Given the description of an element on the screen output the (x, y) to click on. 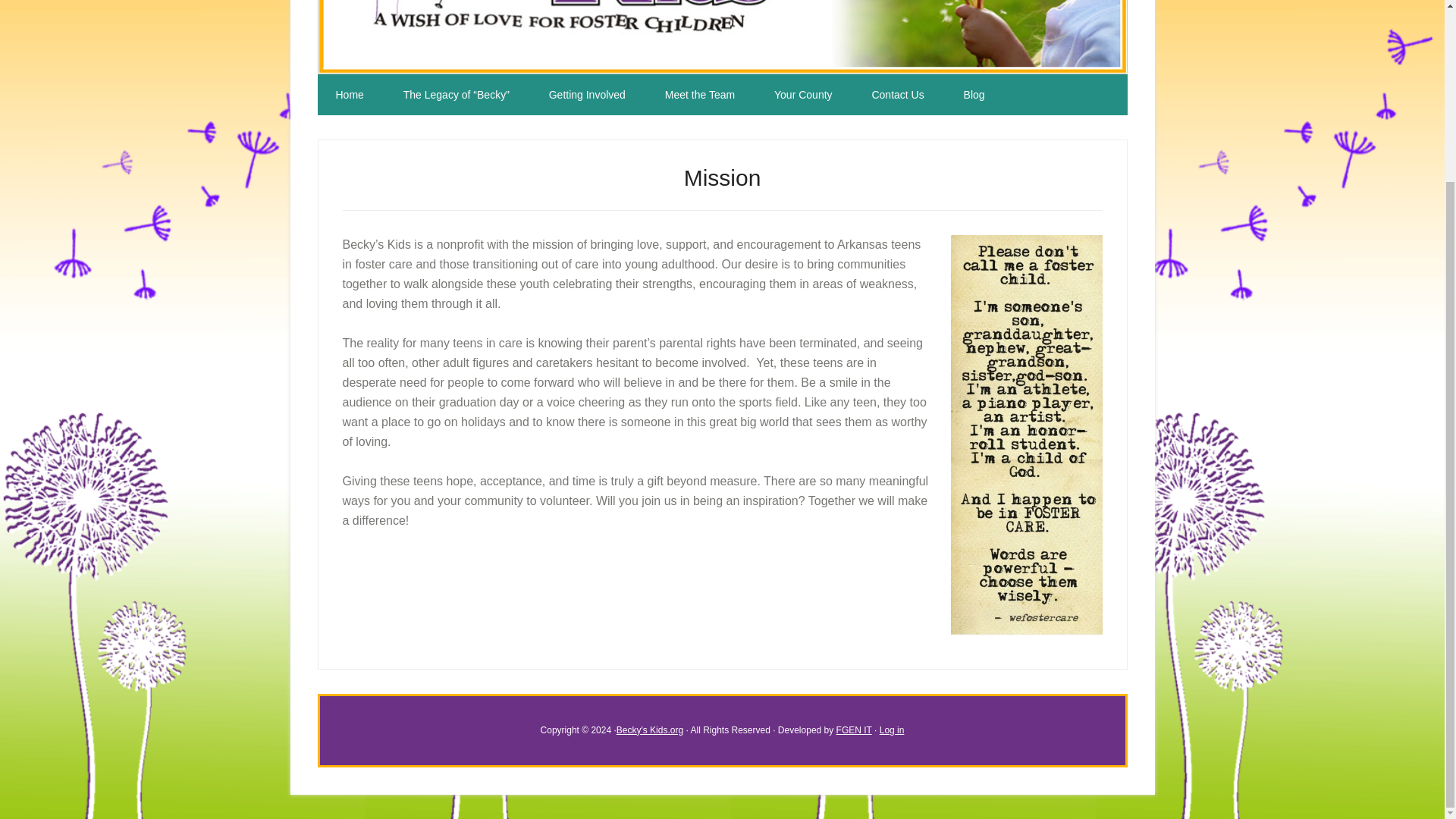
Getting Involved (587, 94)
Contact Us (897, 94)
Home (349, 94)
Log in (891, 729)
Beckys Kids (721, 37)
FGEN IT (853, 729)
Meet the Team (699, 94)
Becky's Kids.org (648, 729)
Your County (802, 94)
Blog (973, 94)
